Given the description of an element on the screen output the (x, y) to click on. 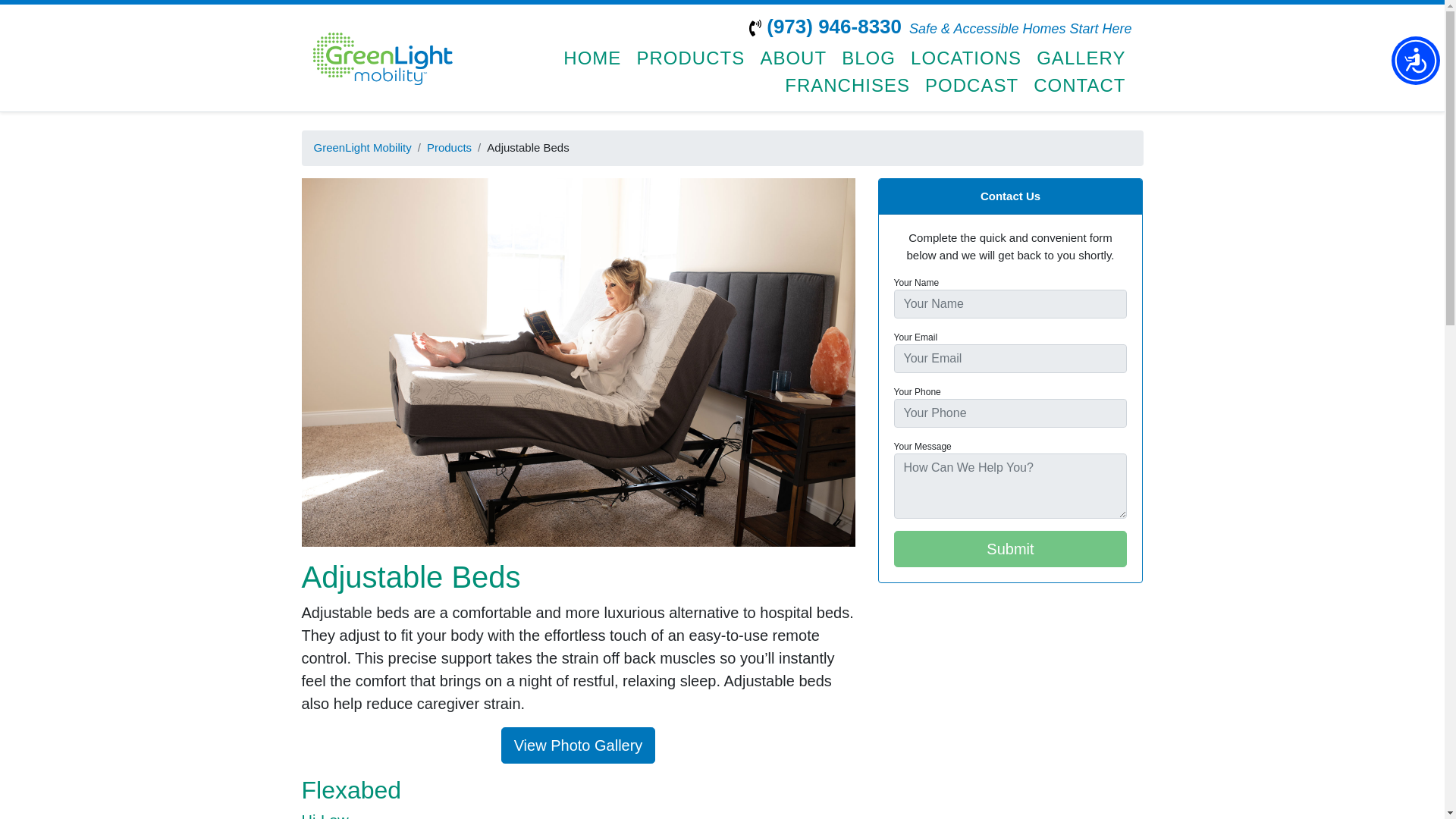
GALLERY (1080, 58)
Accessibility Menu (1415, 60)
Products (448, 146)
View Photo Gallery (578, 745)
GreenLight Mobility (363, 146)
PODCAST (971, 85)
ABOUT (793, 58)
PRODUCTS (690, 58)
Submit (1009, 548)
LOCATIONS (965, 58)
BLOG (868, 58)
HOME (592, 58)
Submit (1009, 548)
CONTACT (1079, 85)
FRANCHISES (846, 85)
